Given the description of an element on the screen output the (x, y) to click on. 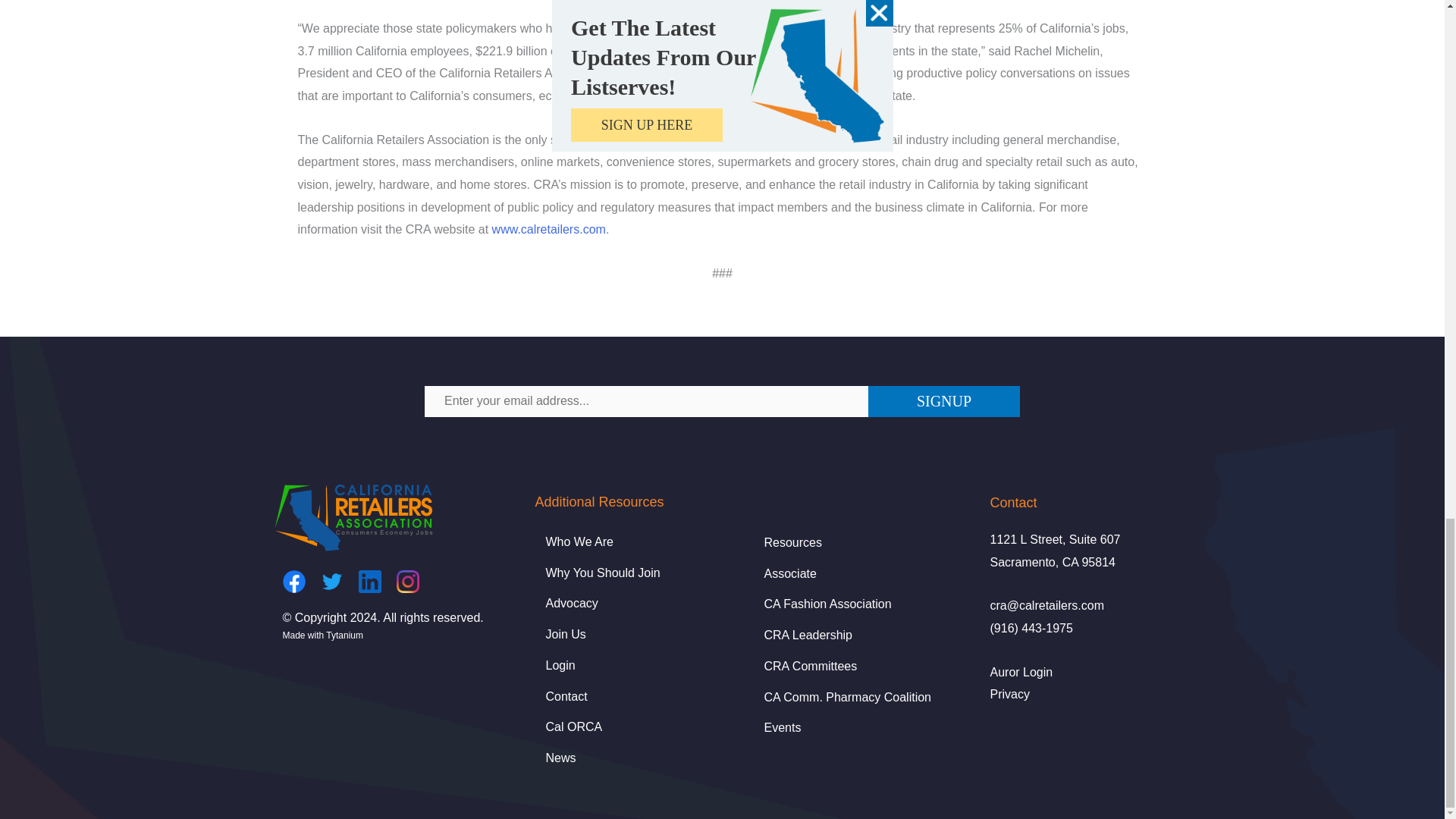
www.calretailers.com (548, 228)
png2 (353, 516)
Twitter (331, 581)
SIGNUP (943, 400)
